Given the description of an element on the screen output the (x, y) to click on. 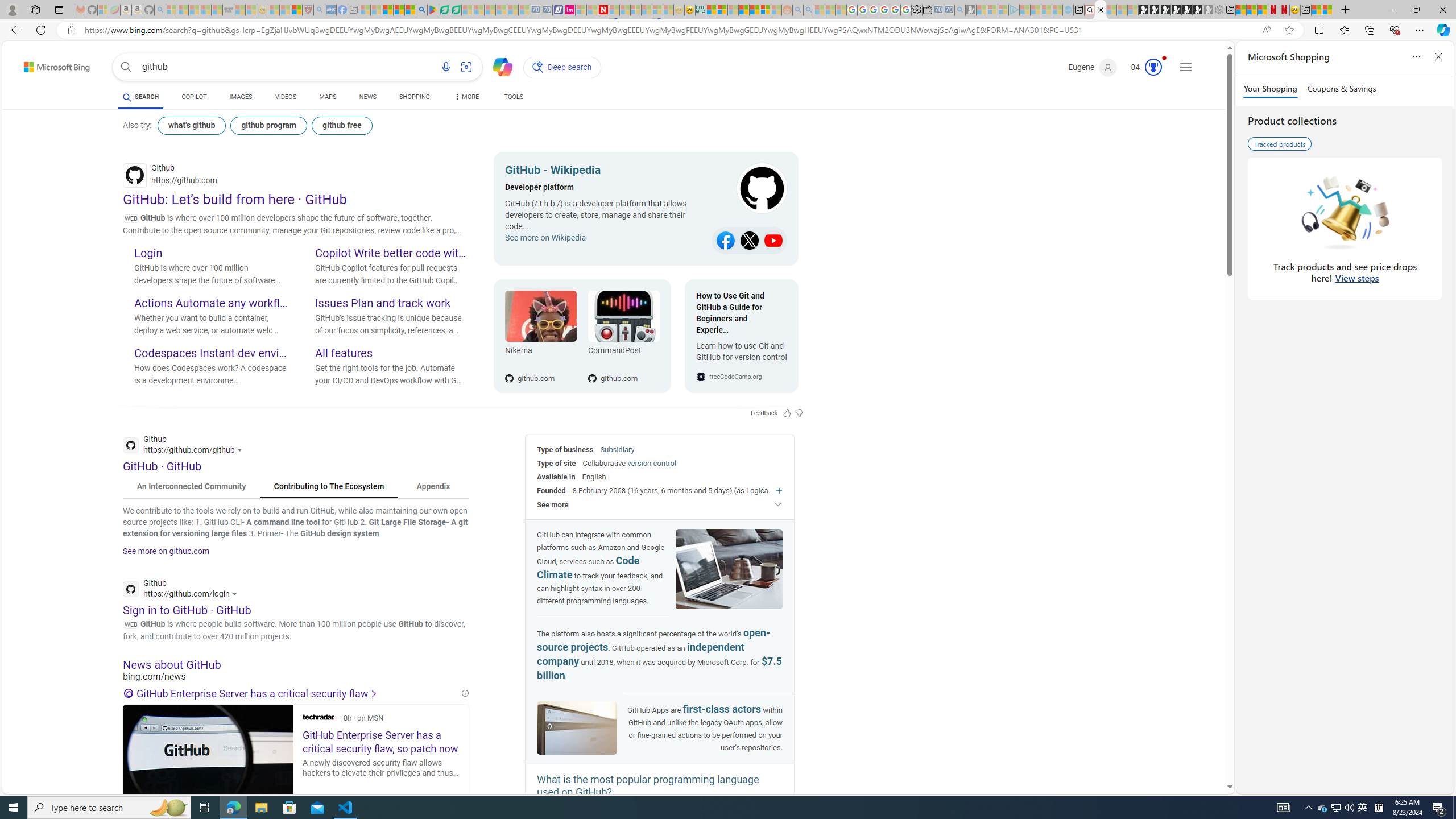
github free (341, 125)
Founded (551, 490)
Chat (497, 65)
MAPS (327, 96)
NEWS (367, 96)
github free (341, 125)
TOOLS (512, 96)
